Given the description of an element on the screen output the (x, y) to click on. 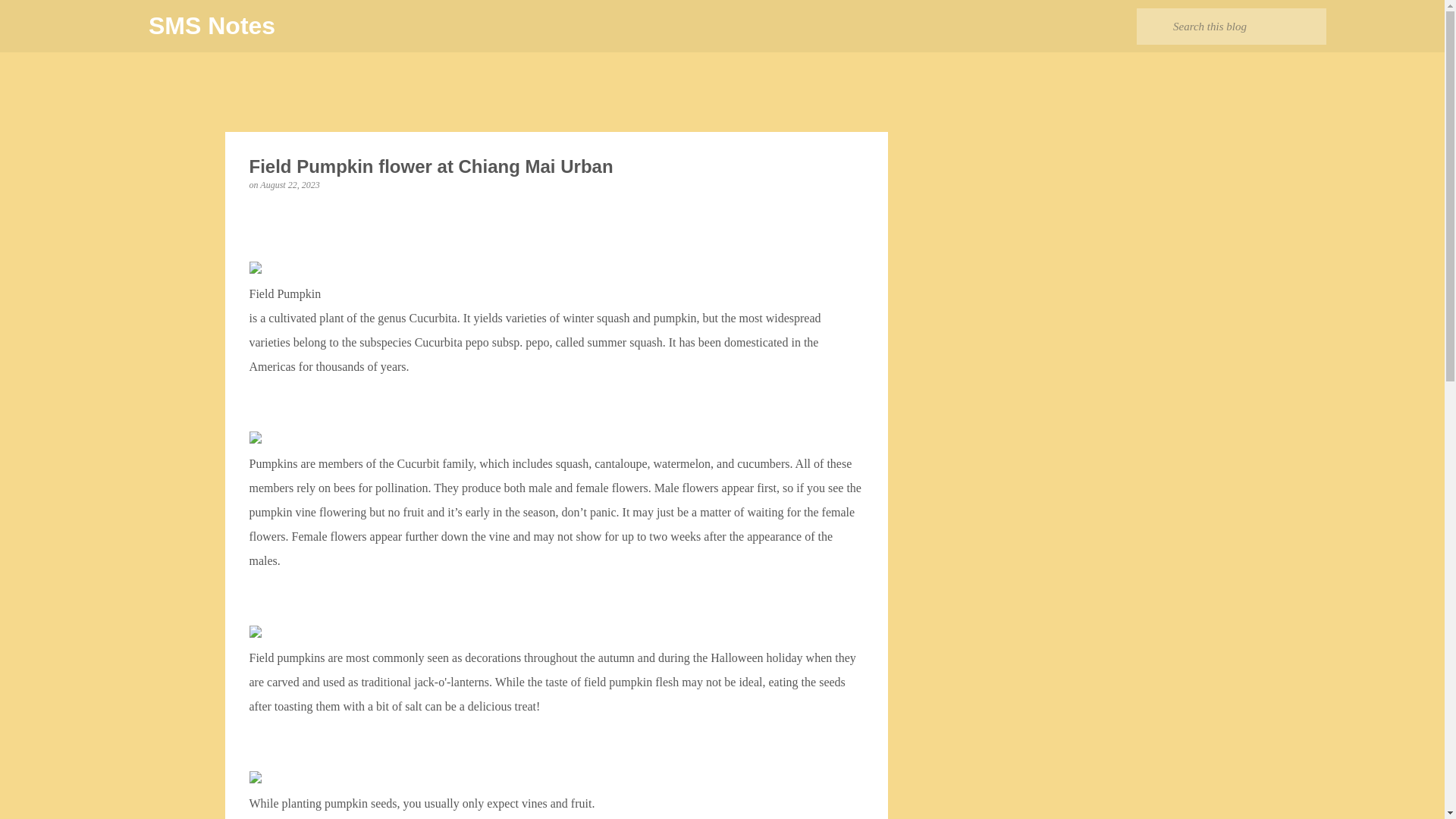
August 22, 2023 (289, 184)
permanent link (289, 184)
SMS Notes (211, 25)
